Given the description of an element on the screen output the (x, y) to click on. 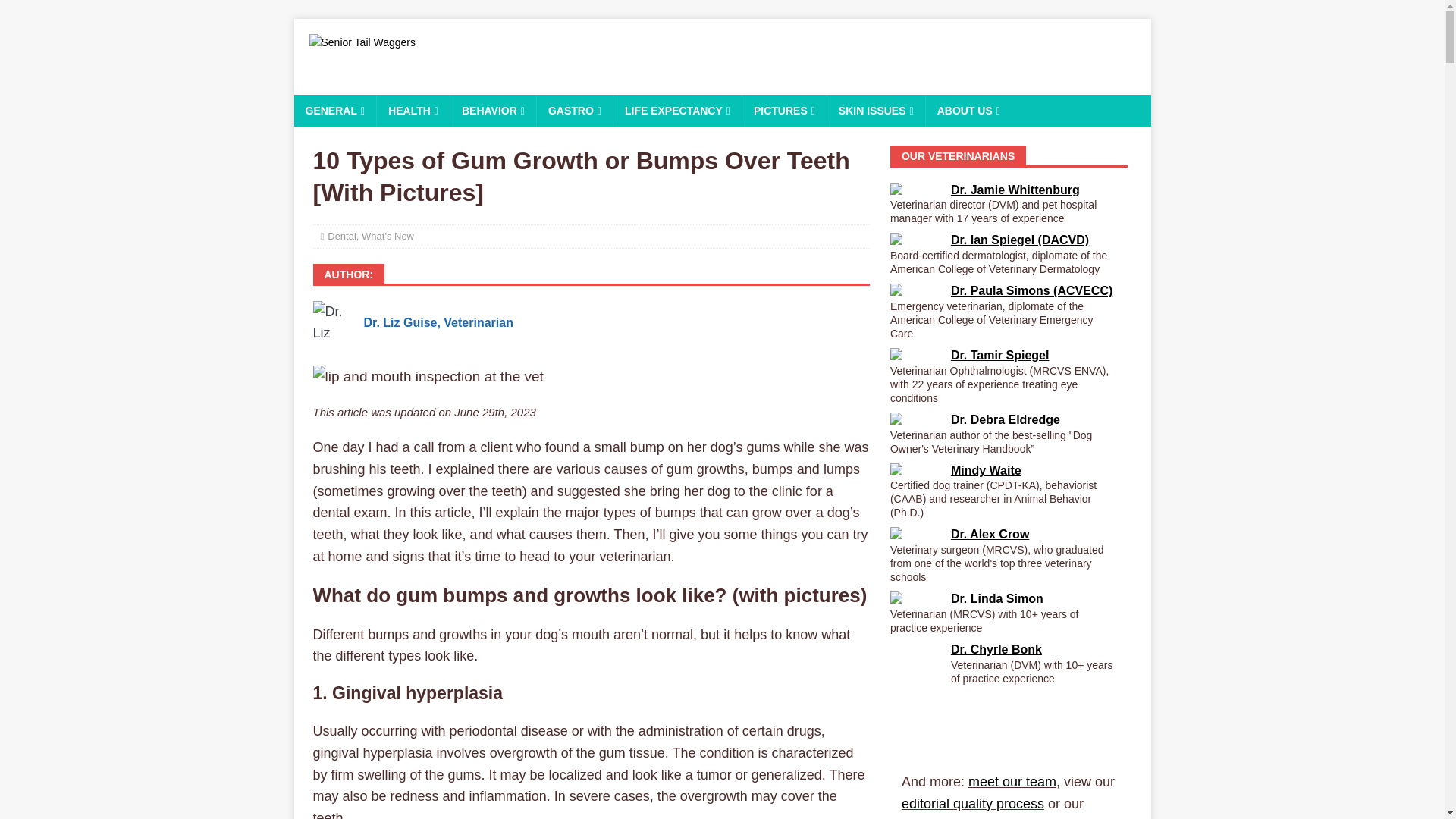
HEALTH (412, 110)
Dr. Liz Guise, Veterinarian (438, 322)
GENERAL (335, 110)
Close,Up,Of,Examining,Dog's,Dental,Health,At,Vet's,Office (428, 376)
